Given the description of an element on the screen output the (x, y) to click on. 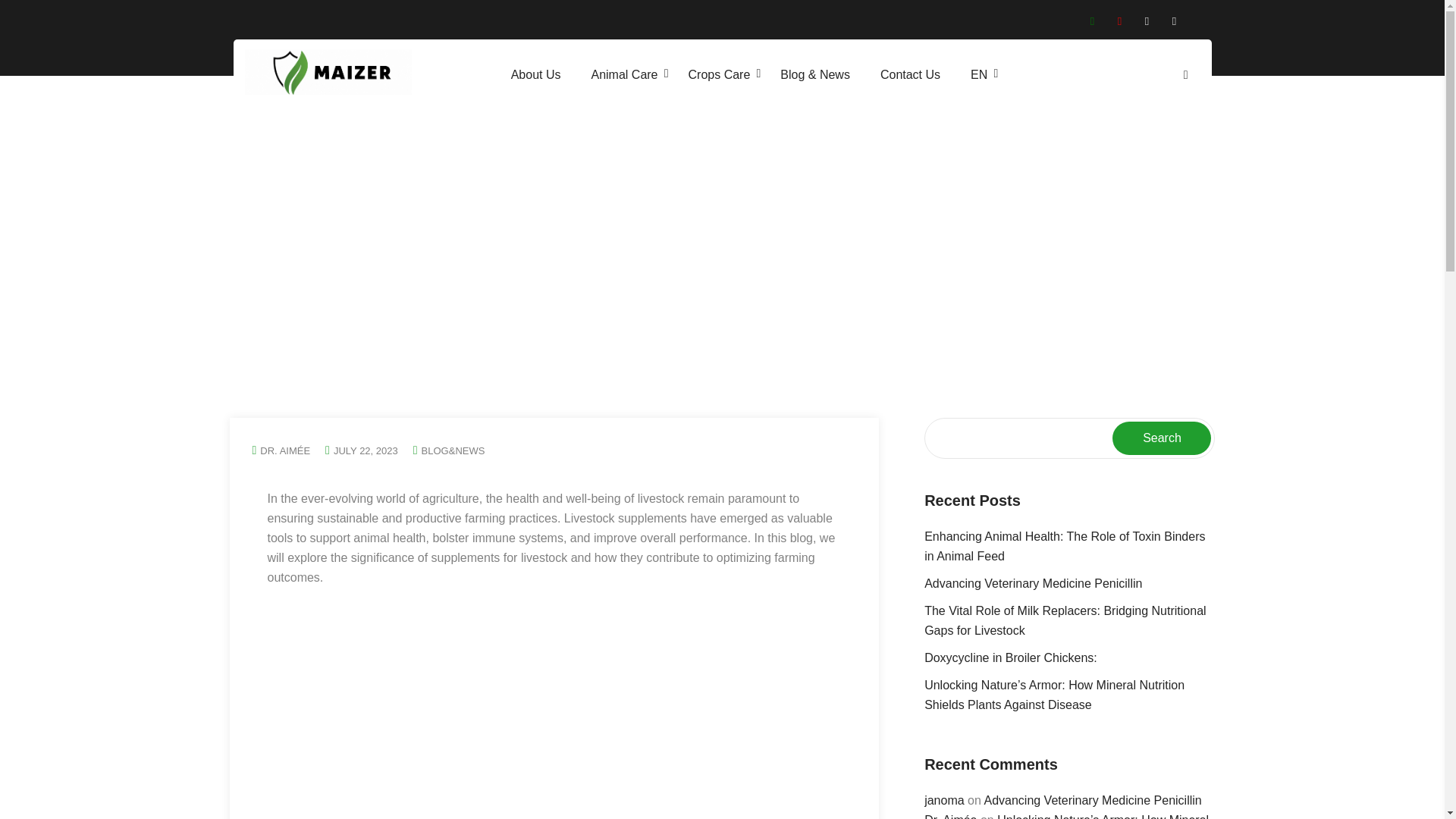
Granular (892, 204)
Water-Soluble (892, 243)
Pesticide (892, 234)
Animal Care (623, 74)
Antibiotics (793, 155)
Search (1151, 128)
Milk Replacers (793, 313)
Chemical Fertilizers (892, 194)
Chemical Fertilizers (892, 194)
Plant Nutrients (892, 155)
